Given the description of an element on the screen output the (x, y) to click on. 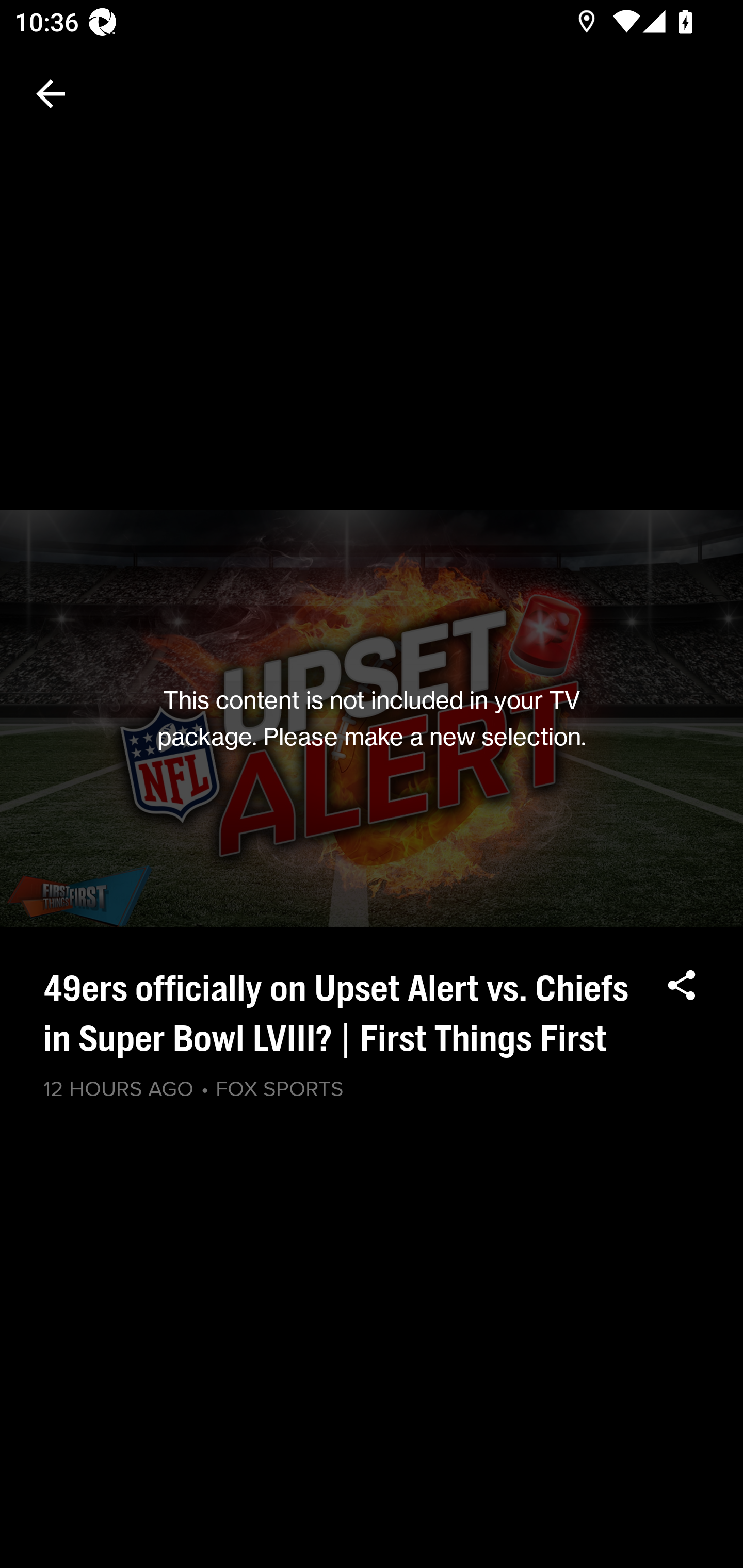
Navigate up (50, 93)
